Given the description of an element on the screen output the (x, y) to click on. 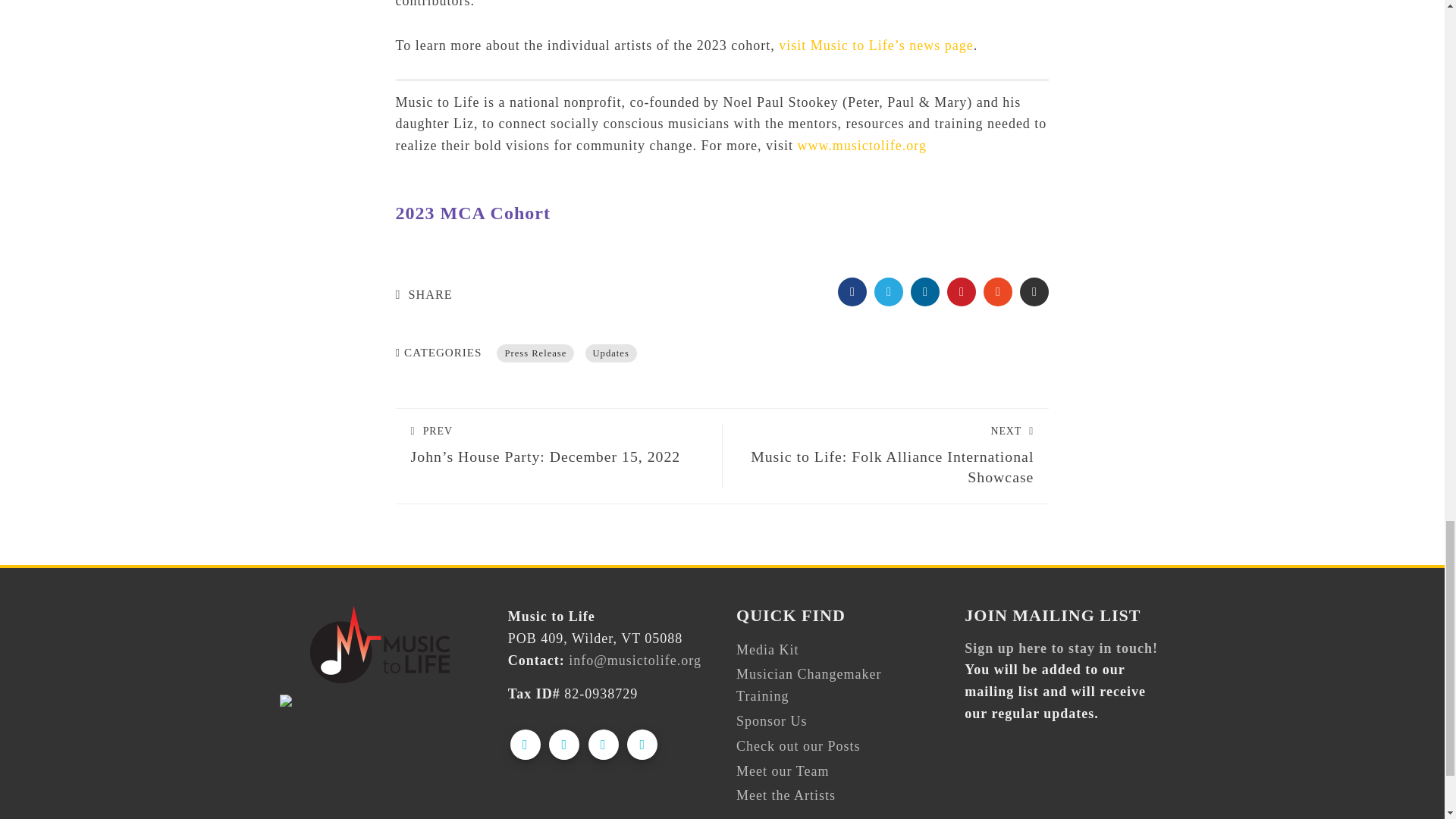
www.musictolife.org (861, 145)
